Given the description of an element on the screen output the (x, y) to click on. 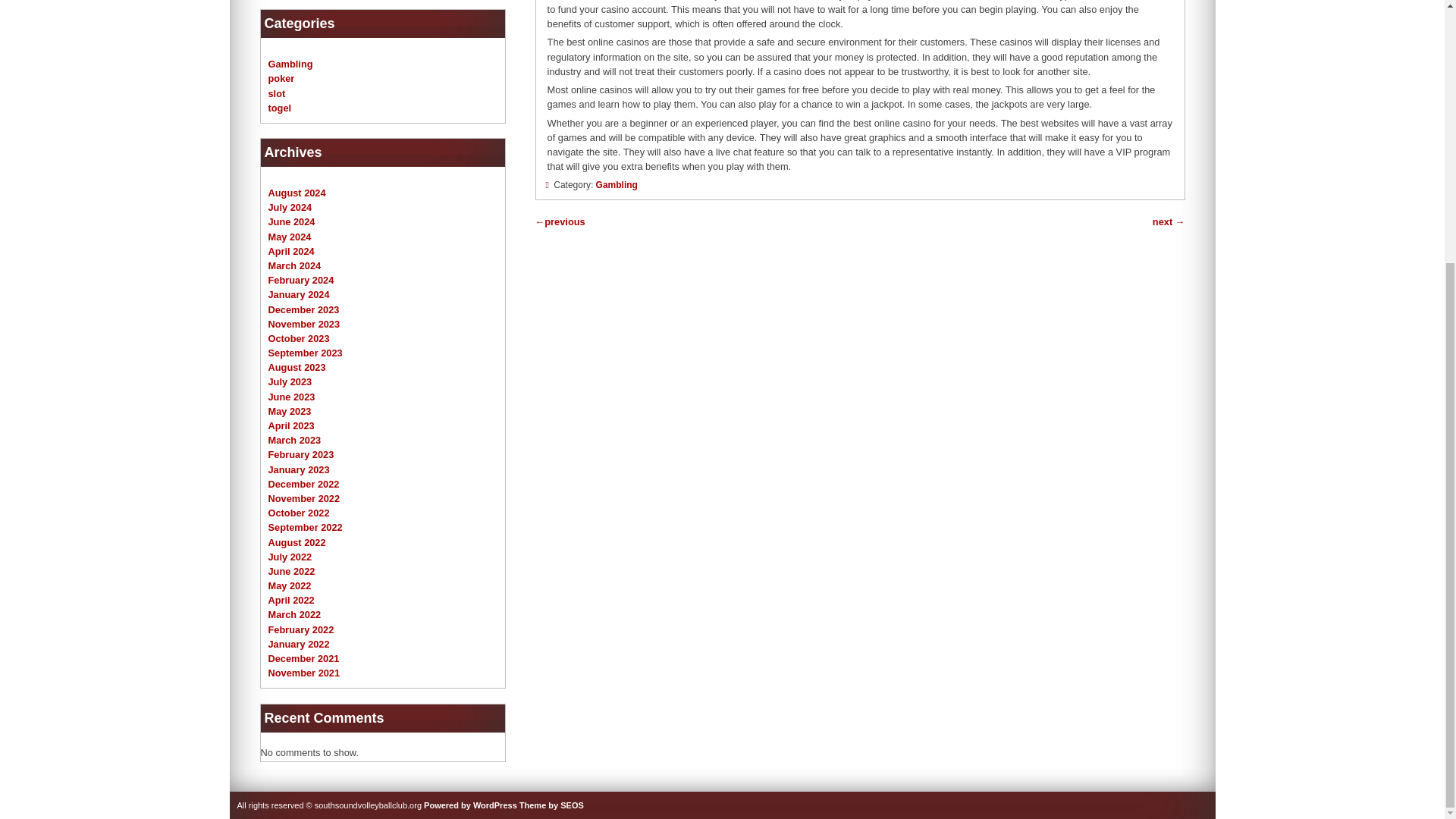
Seos free wordpress themes (551, 804)
June 2023 (291, 396)
May 2023 (289, 410)
Gambling (616, 184)
July 2024 (290, 206)
August 2023 (296, 367)
February 2024 (300, 279)
Gambling (290, 63)
poker (281, 78)
December 2023 (303, 308)
